Given the description of an element on the screen output the (x, y) to click on. 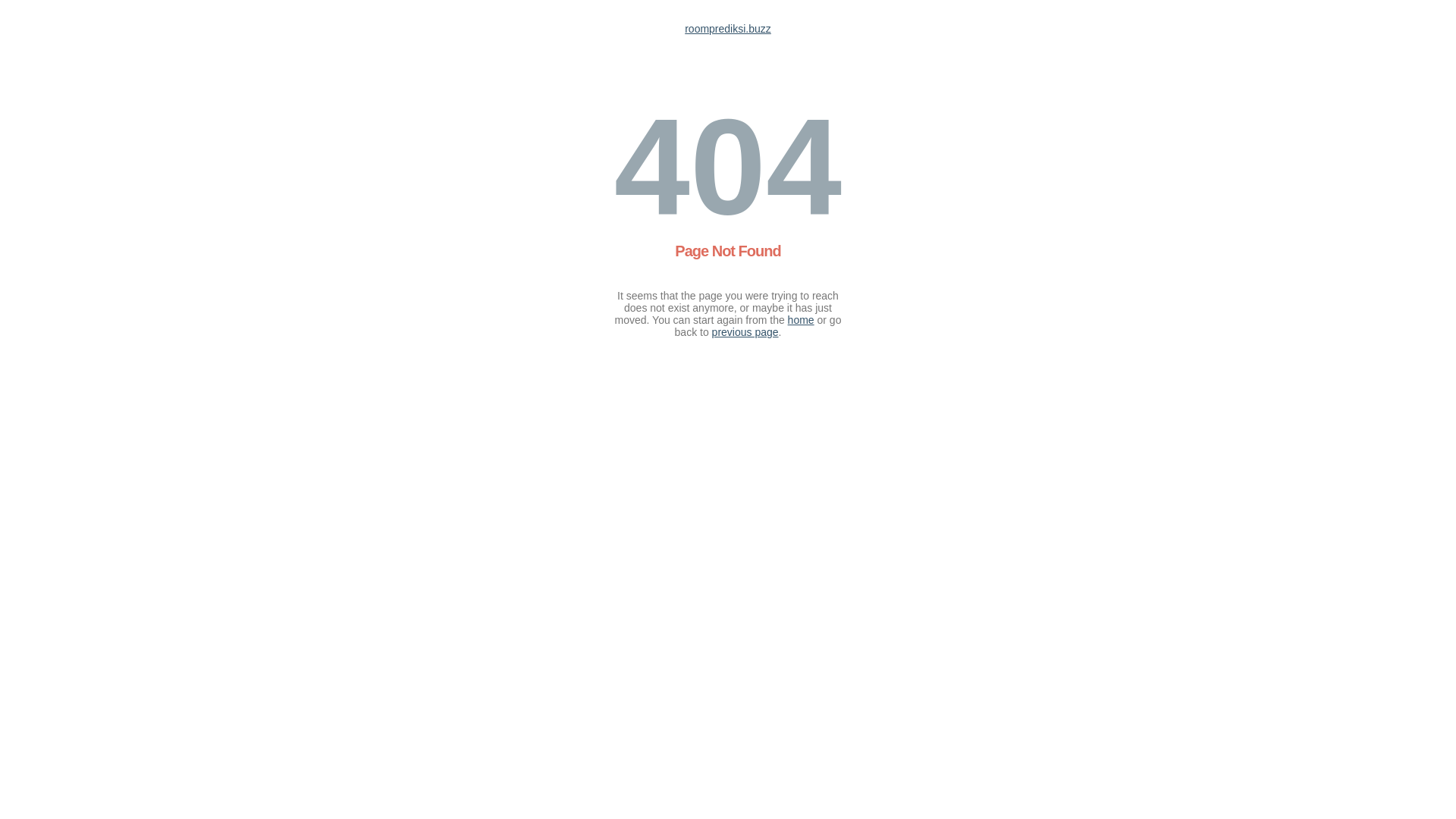
previous page Element type: text (745, 332)
roomprediksi.buzz Element type: text (727, 28)
home Element type: text (800, 319)
